Given the description of an element on the screen output the (x, y) to click on. 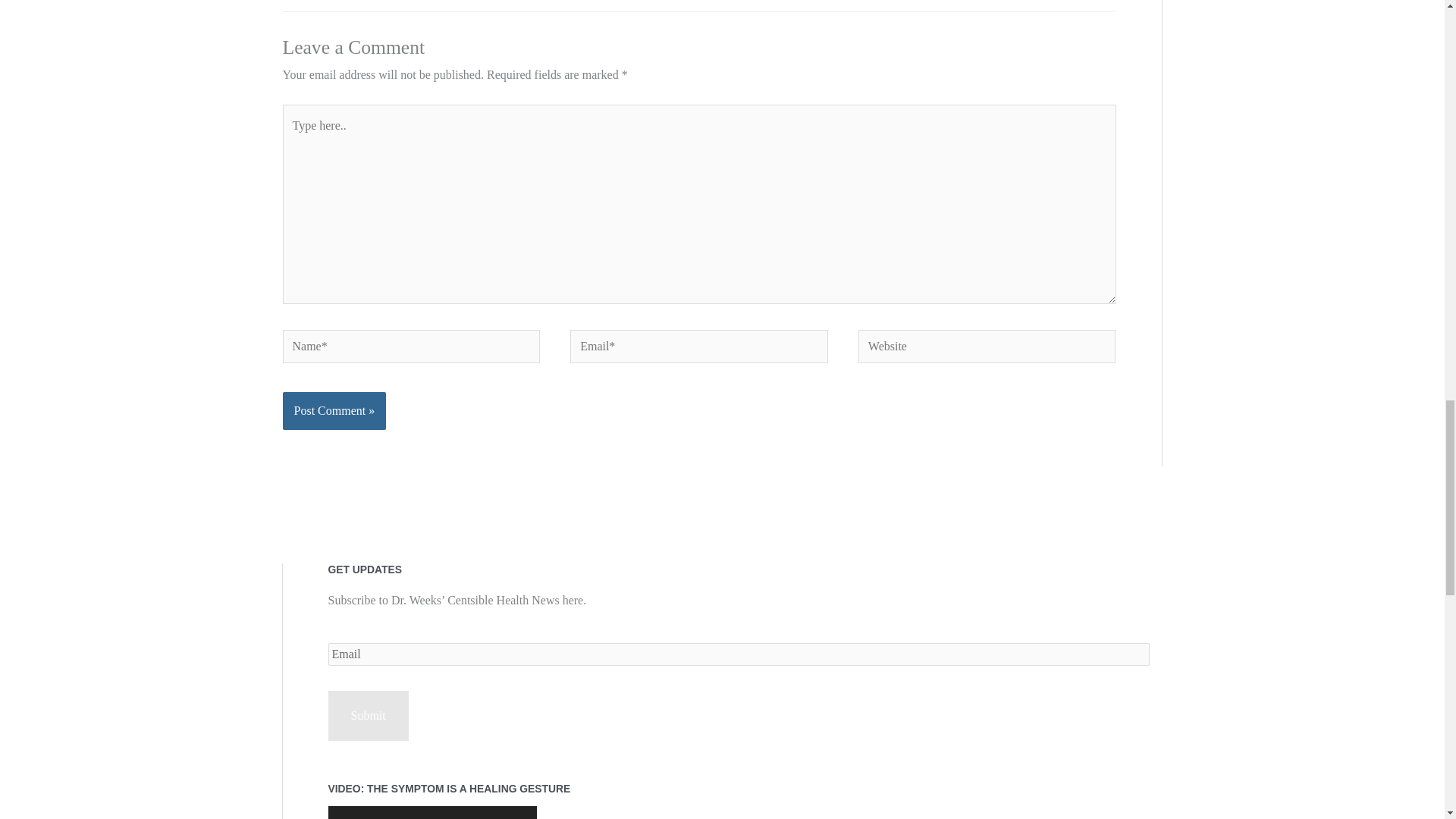
Submit (367, 716)
Email (737, 653)
